Given the description of an element on the screen output the (x, y) to click on. 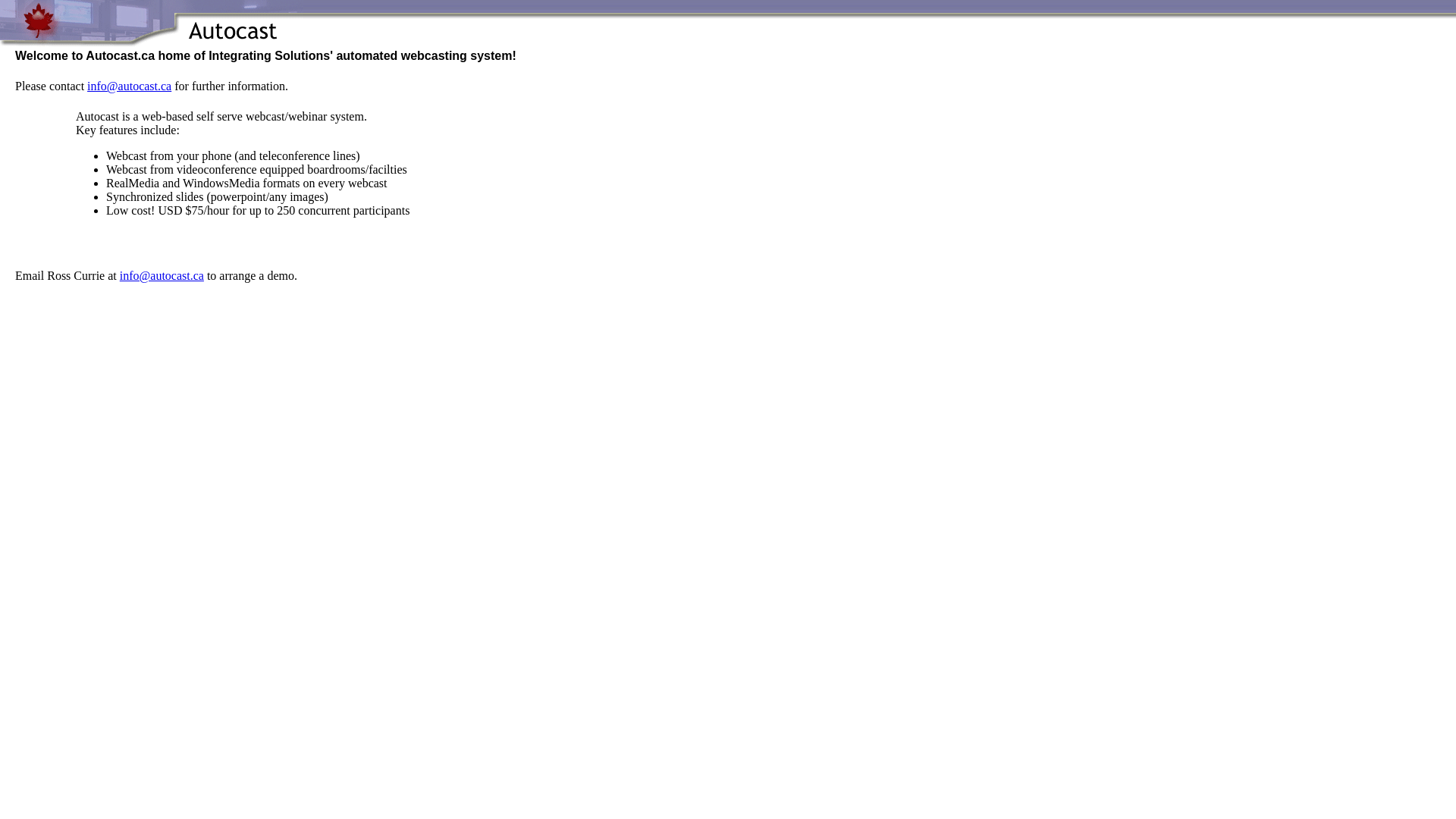
info@autocast.ca Element type: text (161, 275)
info@autocast.ca Element type: text (129, 85)
